Given the description of an element on the screen output the (x, y) to click on. 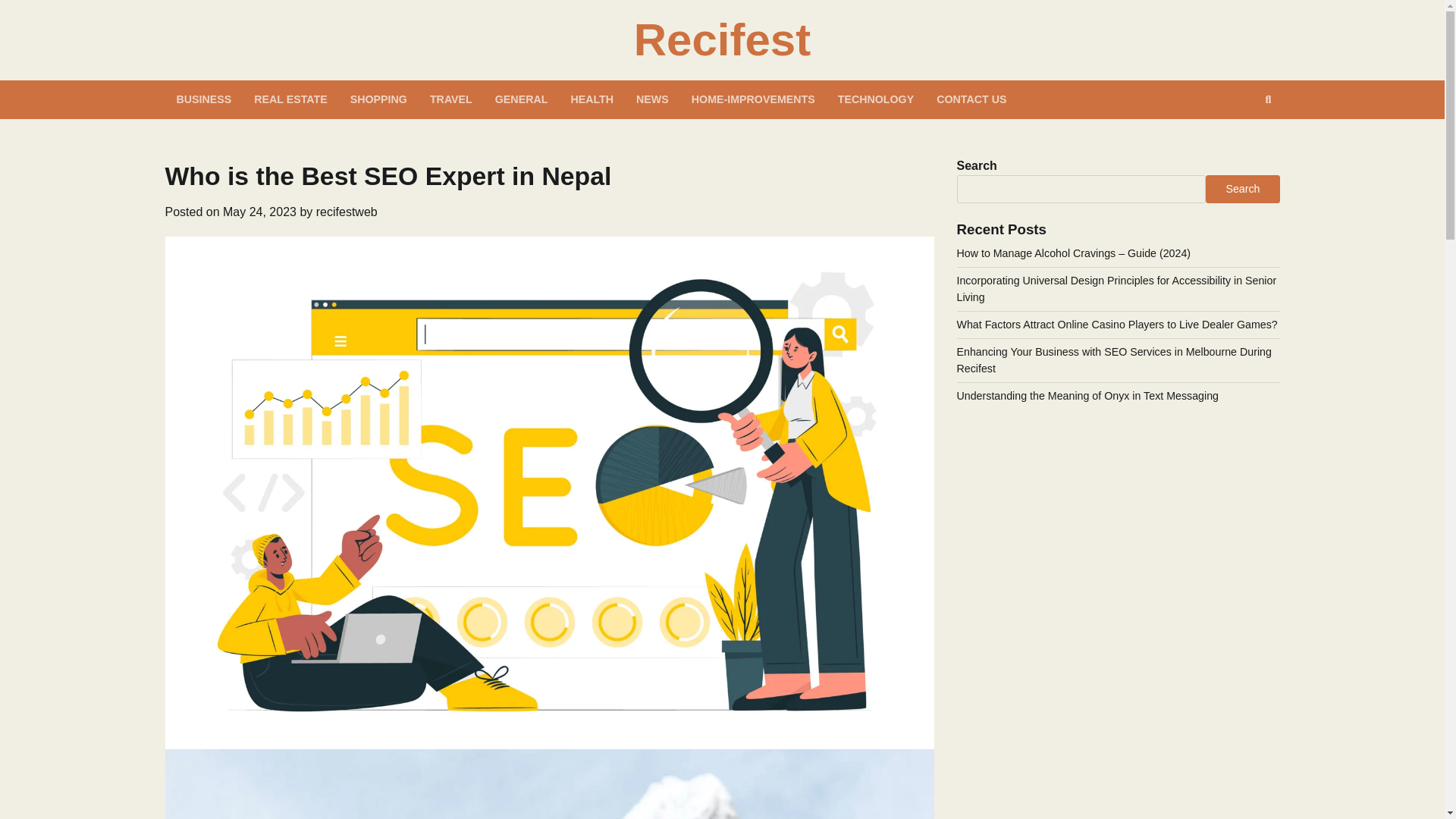
NEWS (651, 99)
CONTACT US (970, 99)
GENERAL (521, 99)
TRAVEL (451, 99)
May 24, 2023 (259, 211)
HOME-IMPROVEMENTS (753, 99)
Search (1268, 99)
SHOPPING (379, 99)
REAL ESTATE (290, 99)
